Given the description of an element on the screen output the (x, y) to click on. 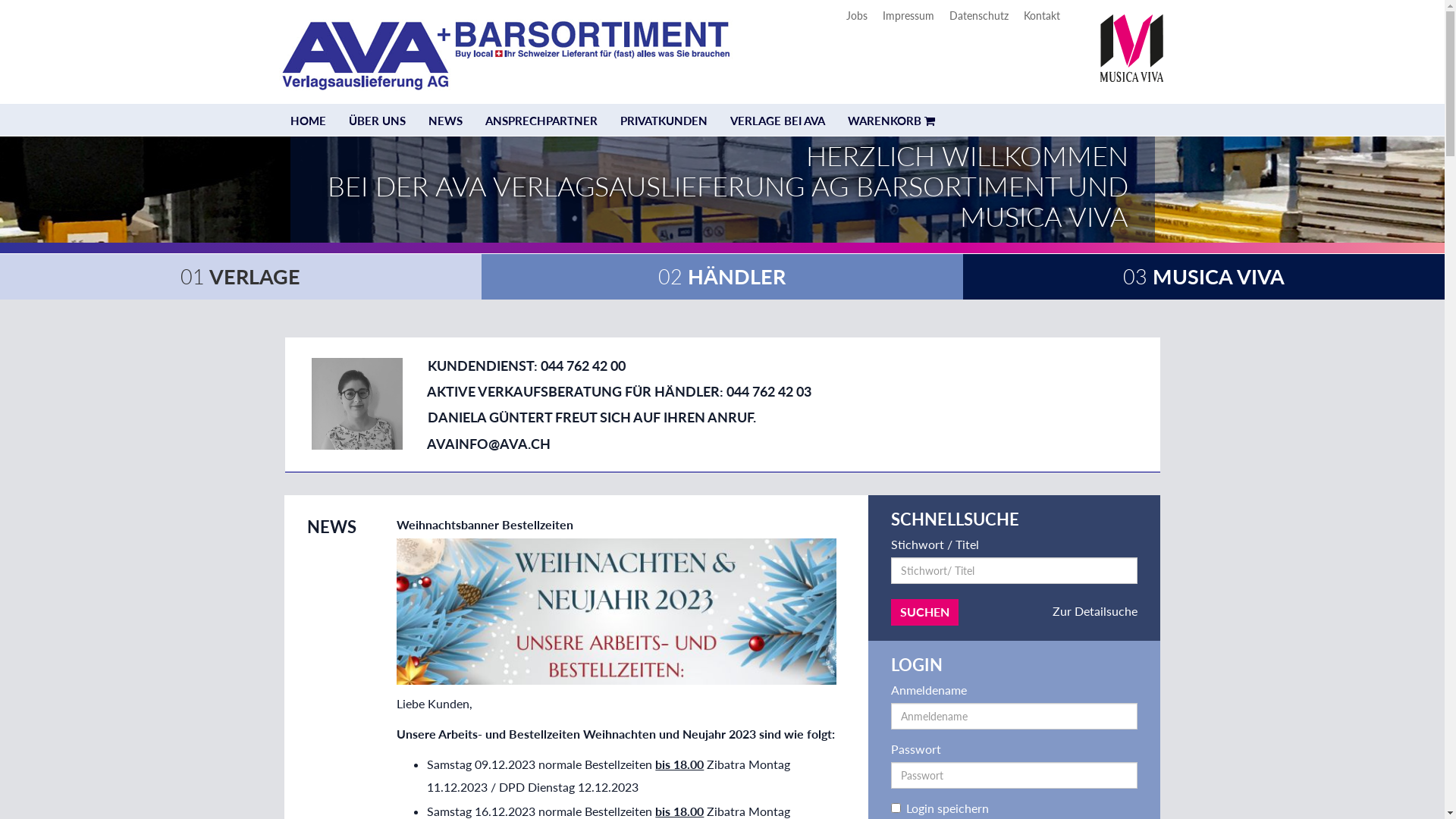
NEWS Element type: text (445, 120)
Kontakt Element type: text (1041, 15)
Impressum Element type: text (908, 15)
03 MUSICA VIVA Element type: text (1203, 275)
VERLAGE BEI AVA Element type: text (777, 120)
ANSPRECHPARTNER Element type: text (540, 120)
01 VERLAGE Element type: text (240, 275)
SUCHEN Element type: text (924, 612)
Jobs Element type: text (856, 15)
HOME Element type: text (308, 120)
Datenschutz Element type: text (978, 15)
Zur Detailsuche Element type: text (1094, 611)
PRIVATKUNDEN Element type: text (663, 120)
WARENKORB Element type: text (890, 120)
